Given the description of an element on the screen output the (x, y) to click on. 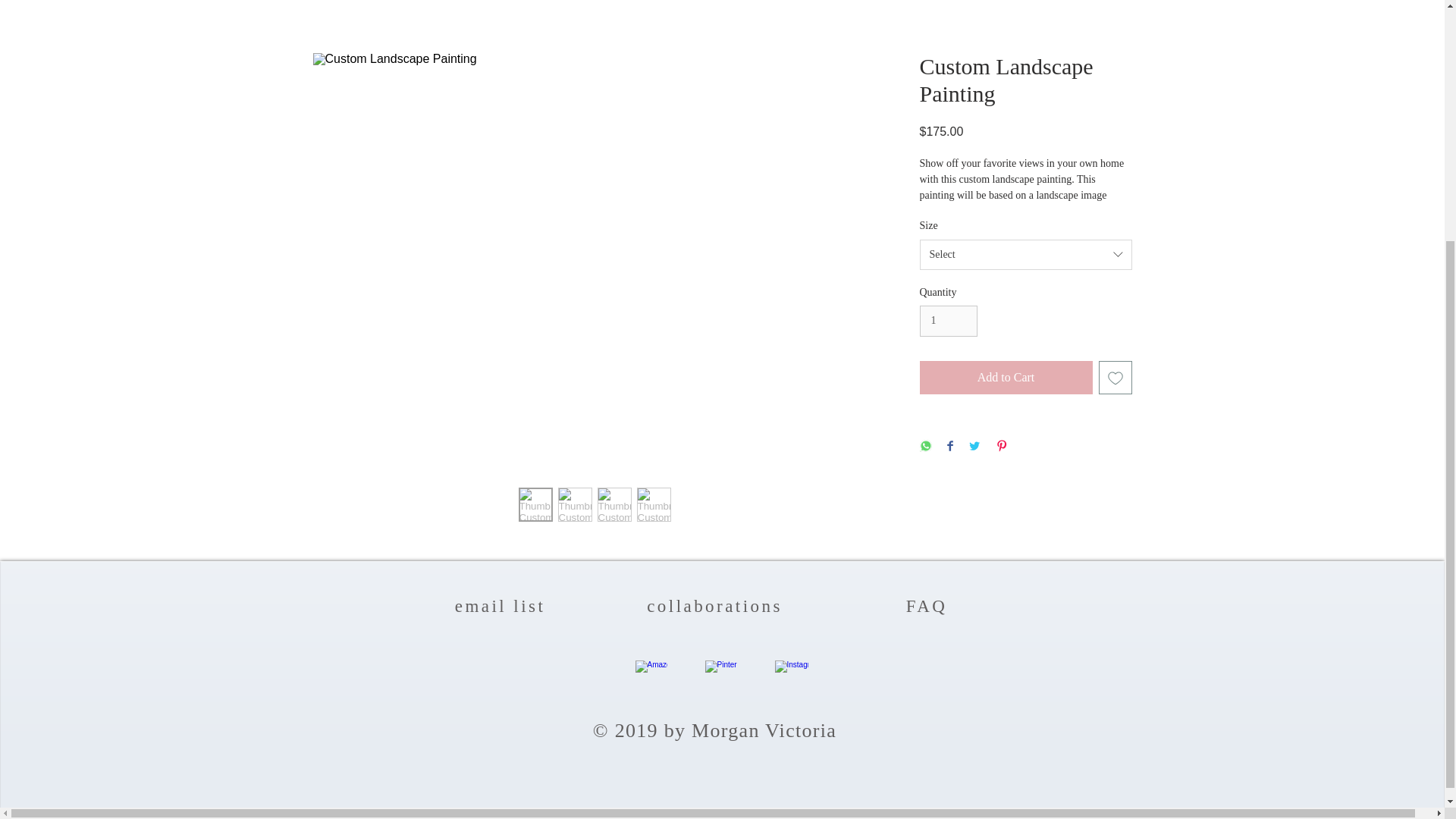
Select (1024, 254)
Add to Cart (1005, 377)
1 (947, 320)
collaborations (714, 606)
